Given the description of an element on the screen output the (x, y) to click on. 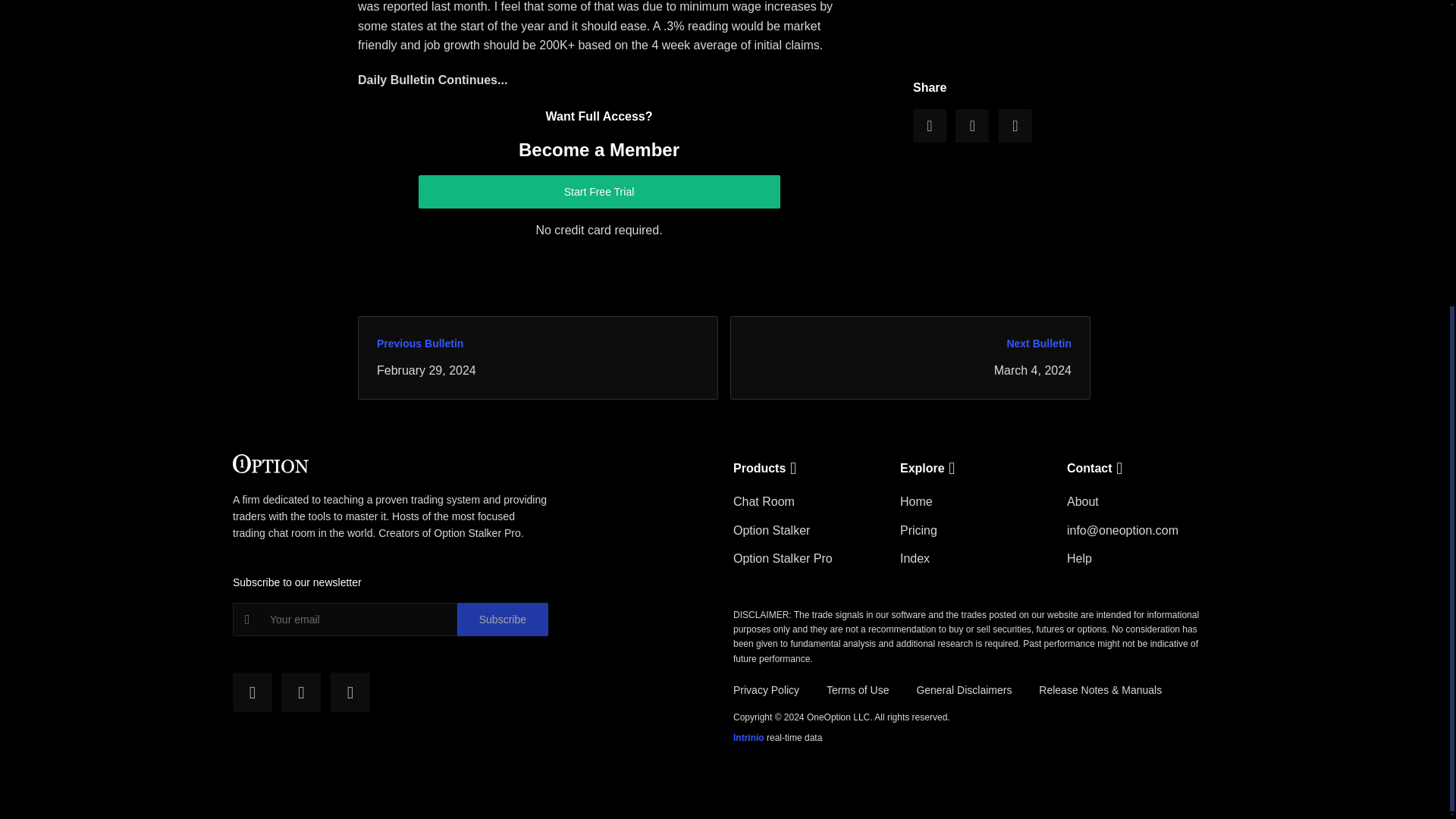
Start Free Trial (599, 191)
Subscribe (502, 619)
